Given the description of an element on the screen output the (x, y) to click on. 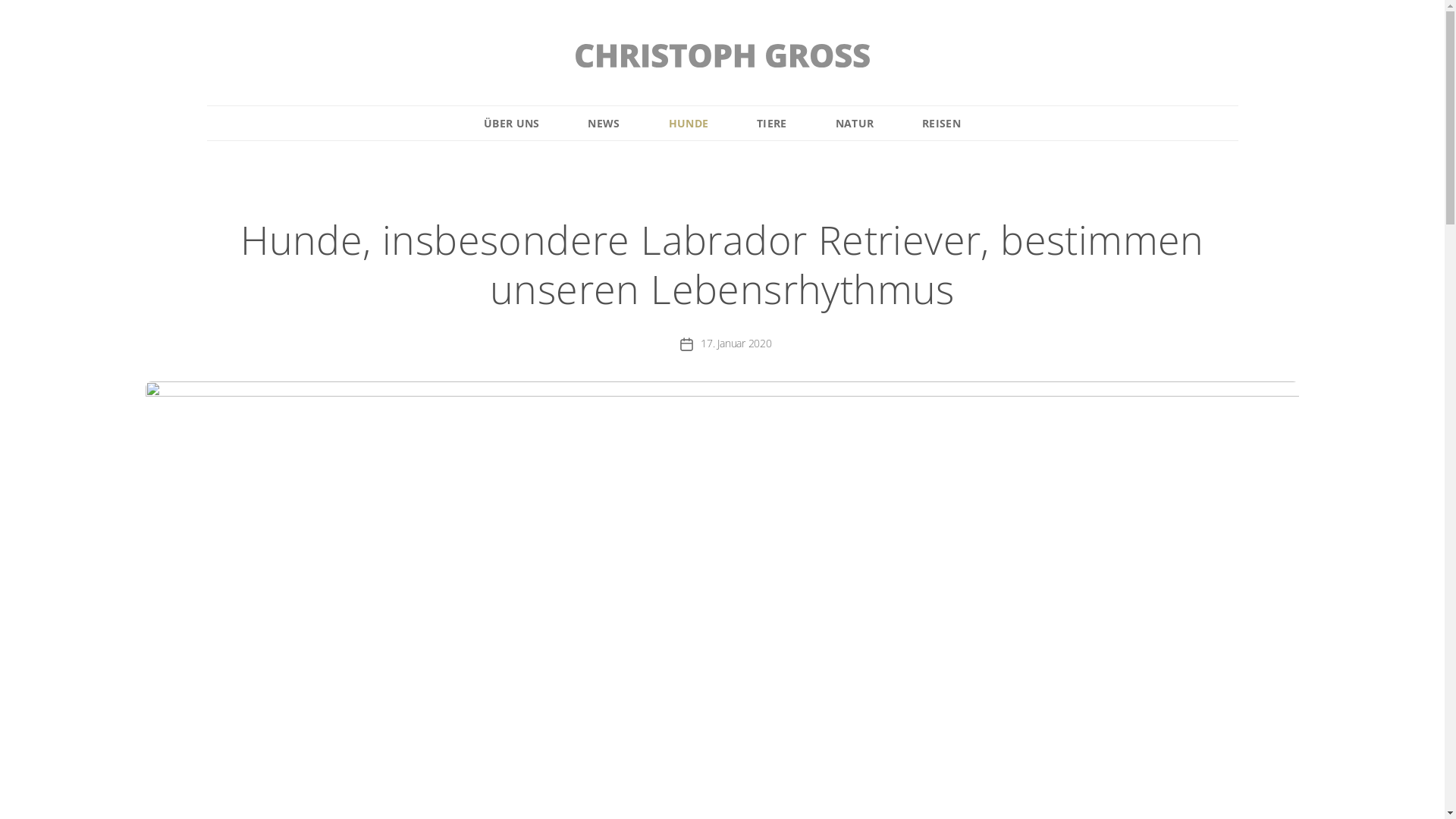
NEWS Element type: text (603, 122)
REISEN Element type: text (941, 122)
TIERE Element type: text (771, 122)
HUNDE Element type: text (688, 122)
NATUR Element type: text (854, 122)
